Given the description of an element on the screen output the (x, y) to click on. 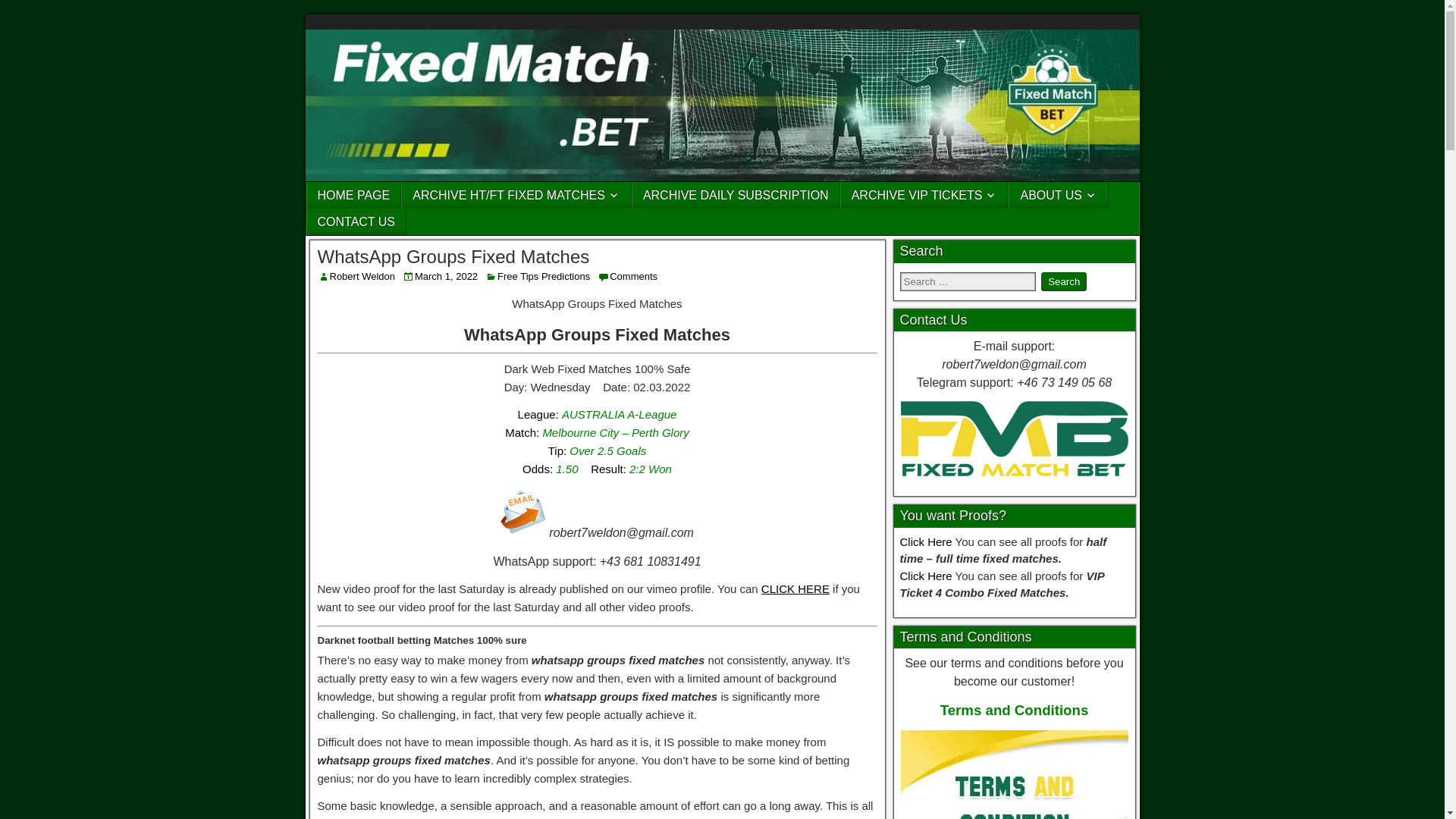
Click Here (925, 541)
WhatsApp Groups Fixed Matches (453, 256)
Free Tips Predictions (543, 276)
HOME PAGE (352, 194)
ABOUT US (1058, 194)
Search (1063, 281)
CLICK HERE (795, 588)
Search (1063, 281)
ARCHIVE VIP TICKETS (925, 194)
Comments (634, 276)
Robert Weldon (361, 276)
Terms and Conditions (1014, 709)
CONTACT US (355, 221)
March 1, 2022 (445, 276)
Search (1063, 281)
